Given the description of an element on the screen output the (x, y) to click on. 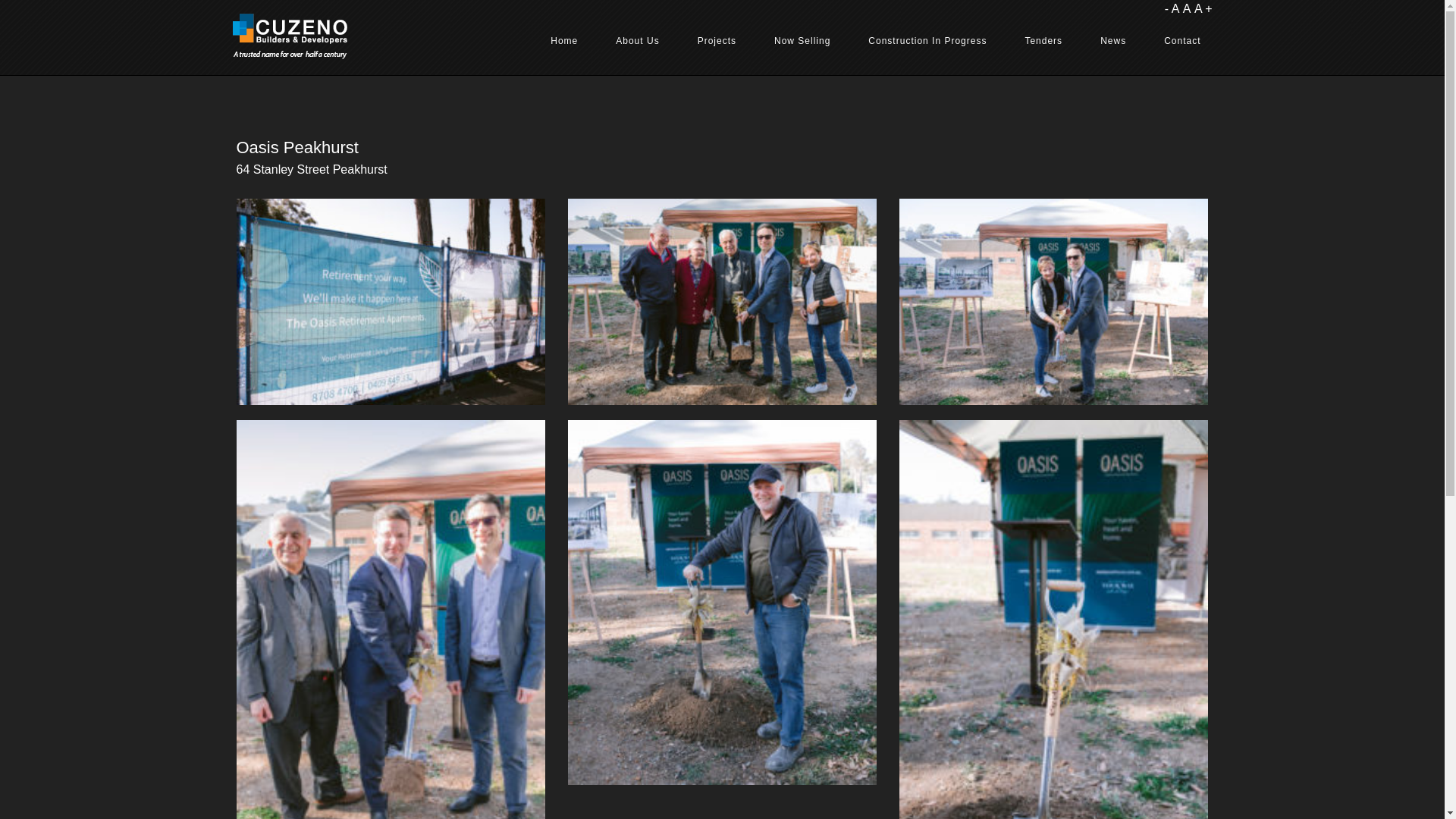
Cuzeno Element type: hover (289, 36)
News Element type: text (1113, 41)
Construction In Progress Element type: text (927, 41)
- A Element type: text (1171, 9)
A Element type: text (1187, 9)
A + Element type: text (1203, 9)
Projects Element type: text (716, 41)
Tenders Element type: text (1043, 41)
About Us Element type: text (636, 41)
Contact Element type: text (1182, 41)
Home Element type: text (563, 41)
Now Selling Element type: text (802, 41)
